Given the description of an element on the screen output the (x, y) to click on. 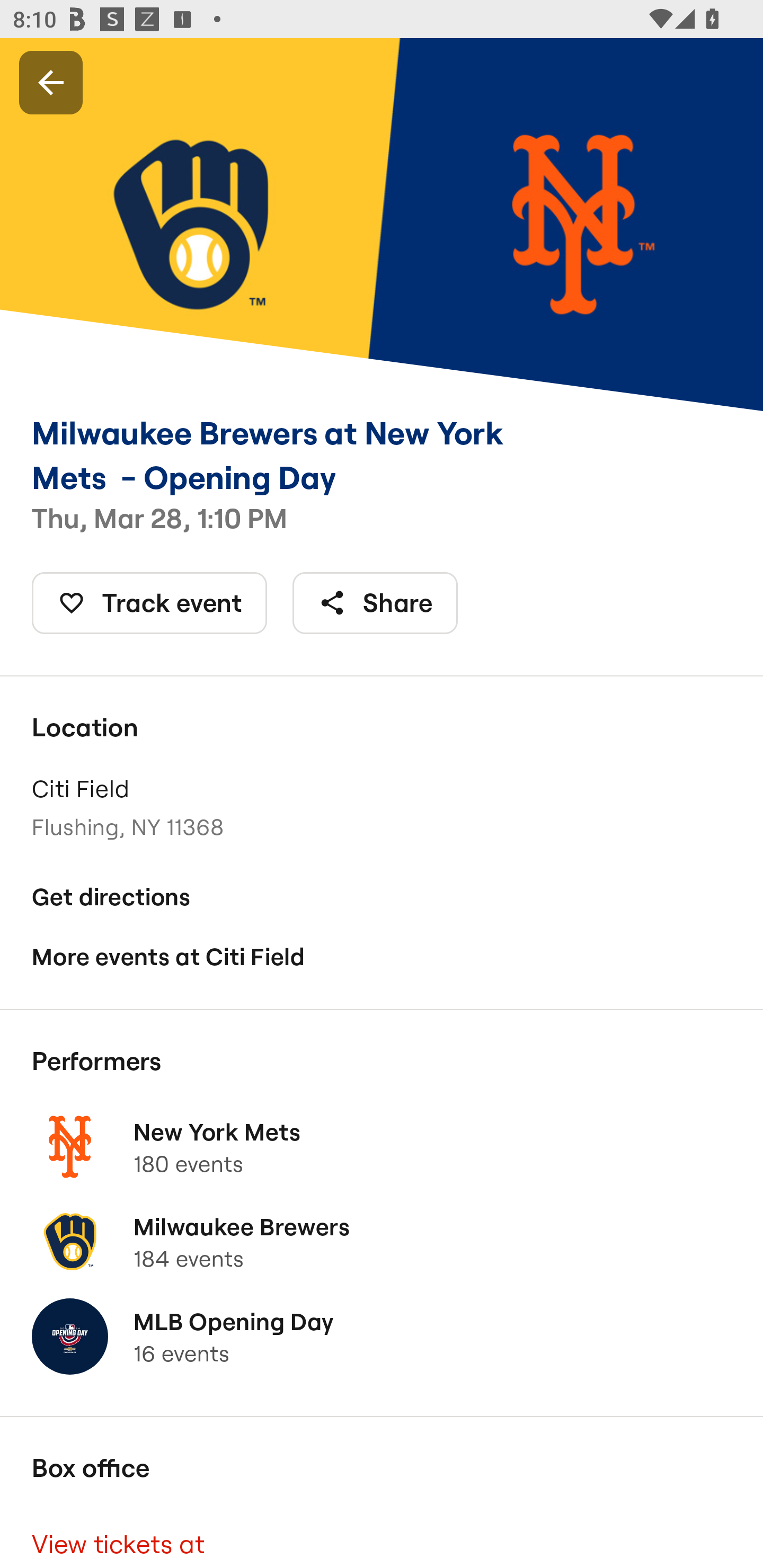
Back (50, 81)
Track event (149, 602)
Share (374, 602)
Get directions (381, 896)
More events at Citi Field (381, 956)
New York Mets 180 events (381, 1146)
Milwaukee Brewers 184 events (381, 1241)
MLB Opening Day 16 events (381, 1336)
View tickets at  (381, 1537)
